Given the description of an element on the screen output the (x, y) to click on. 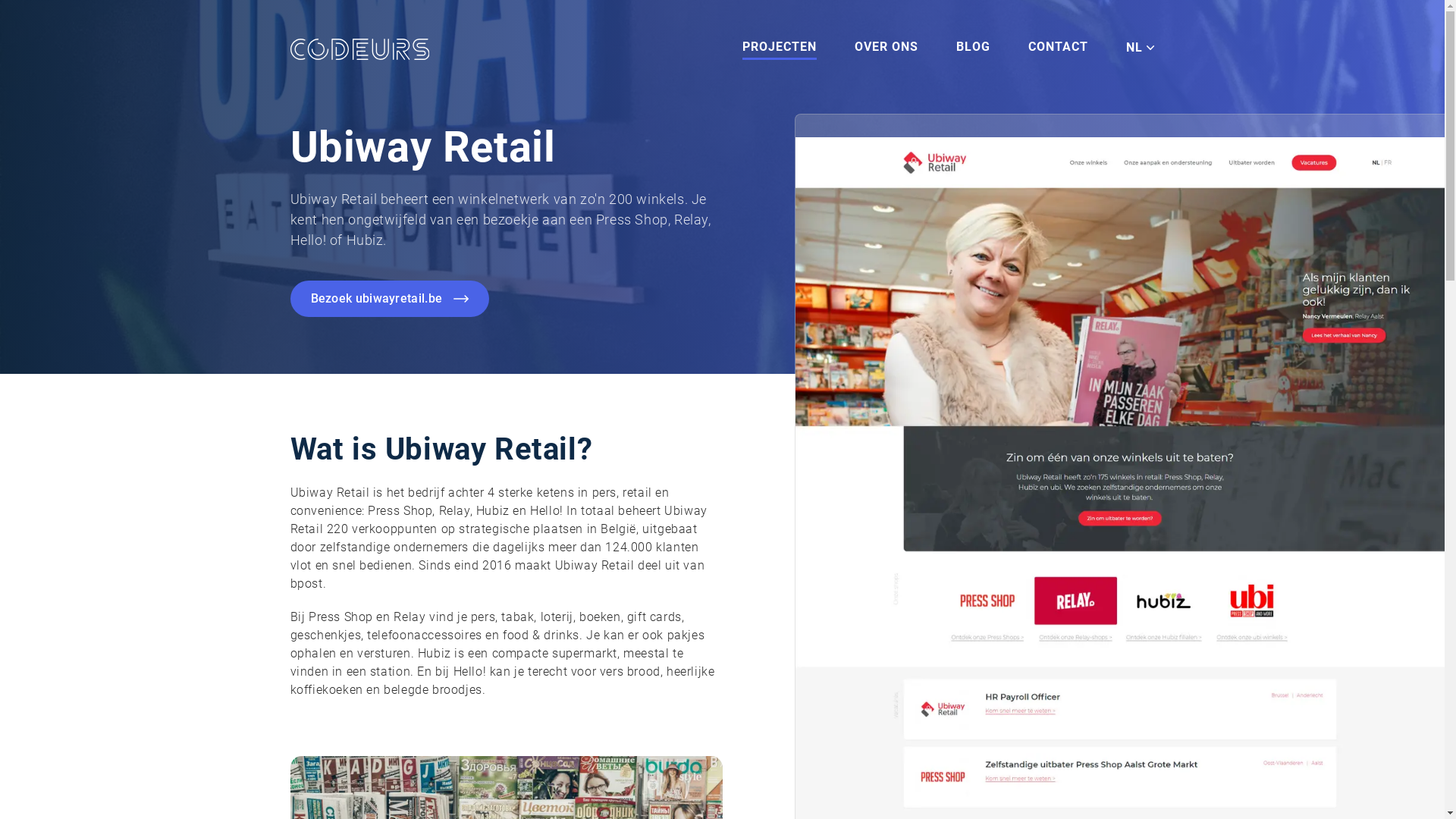
Codeurs Element type: hover (359, 48)
Bezoek ubiwayretail.be Element type: text (389, 298)
CONTACT Element type: text (1058, 48)
OVER ONS Element type: text (886, 48)
PROJECTEN Element type: text (779, 48)
ubiway-case.jpg Element type: hover (722, 186)
BLOG Element type: text (973, 48)
